Given the description of an element on the screen output the (x, y) to click on. 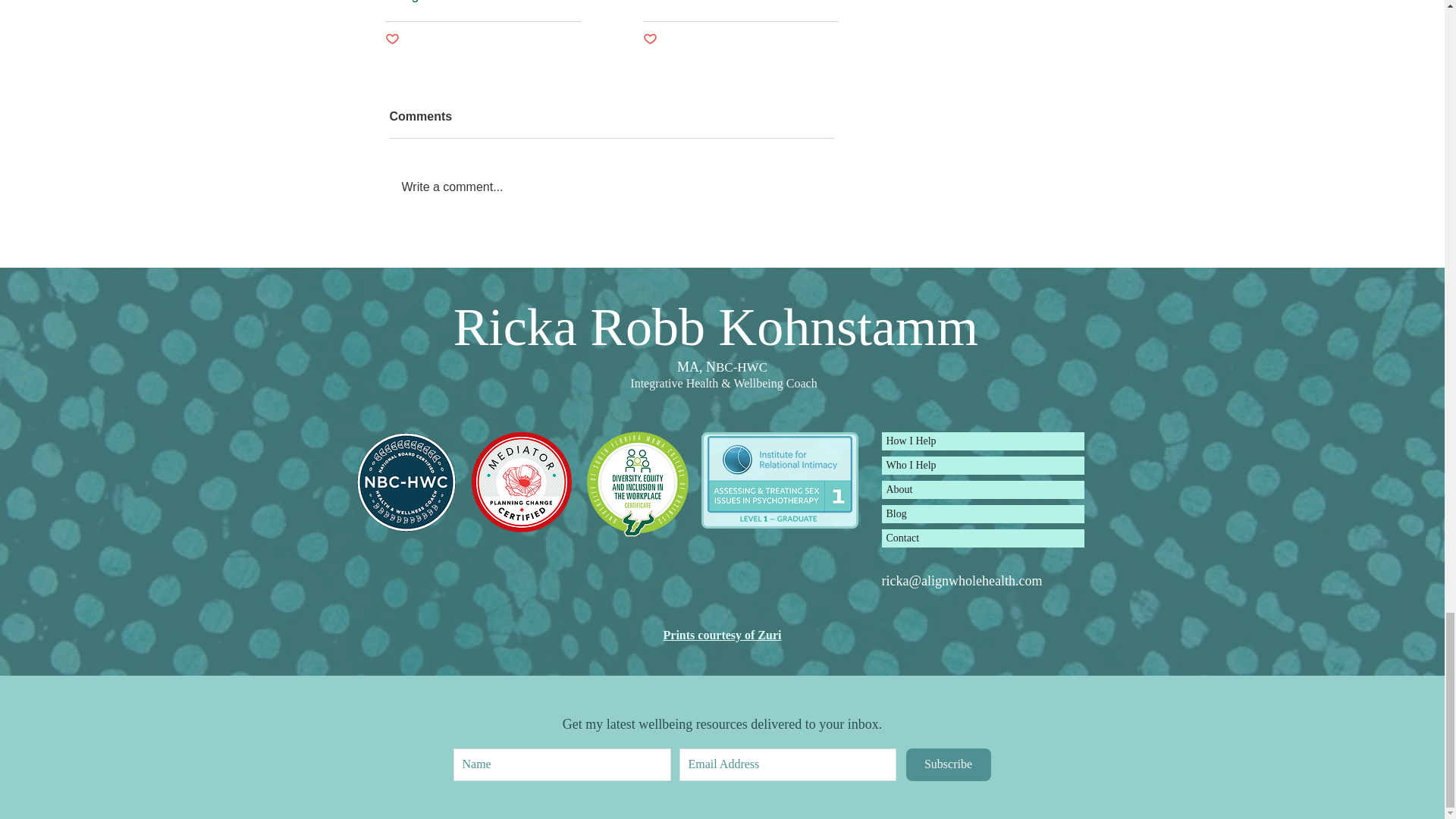
Post not marked as liked (650, 39)
I'm getting the shivers this week... (740, 1)
I'm curious about why she thought that... (482, 1)
Assessing and Treating Sex Issues in Psychotherapy - Level 1 (778, 481)
Diversity, Equity, and Inclusion inthe Workplce (637, 481)
Planin Change Certified (521, 482)
Post not marked as liked (391, 39)
Write a comment... (612, 187)
